Given the description of an element on the screen output the (x, y) to click on. 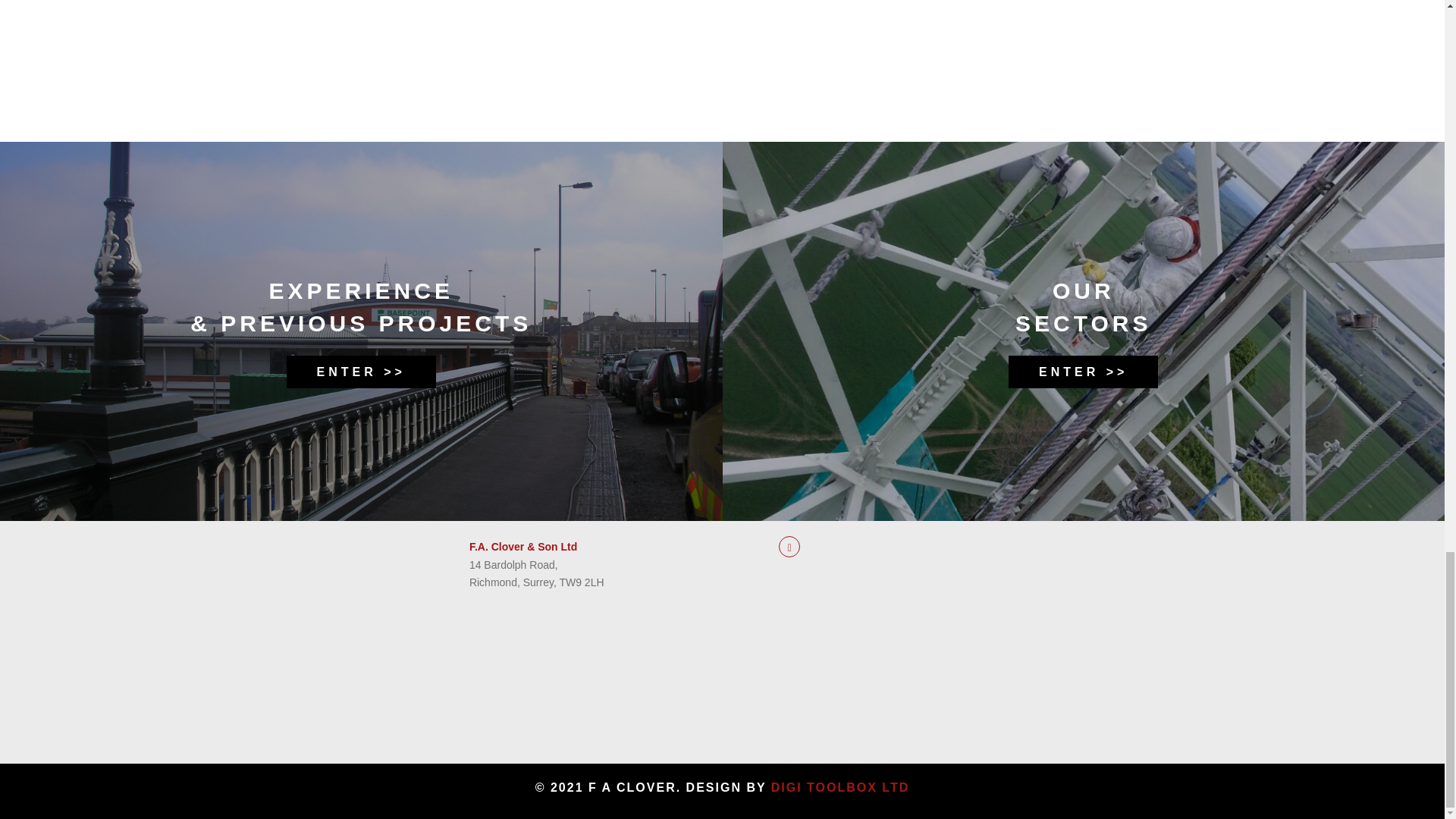
DIGI TOOLBOX LTD (840, 787)
LinkedIn (788, 546)
